Given the description of an element on the screen output the (x, y) to click on. 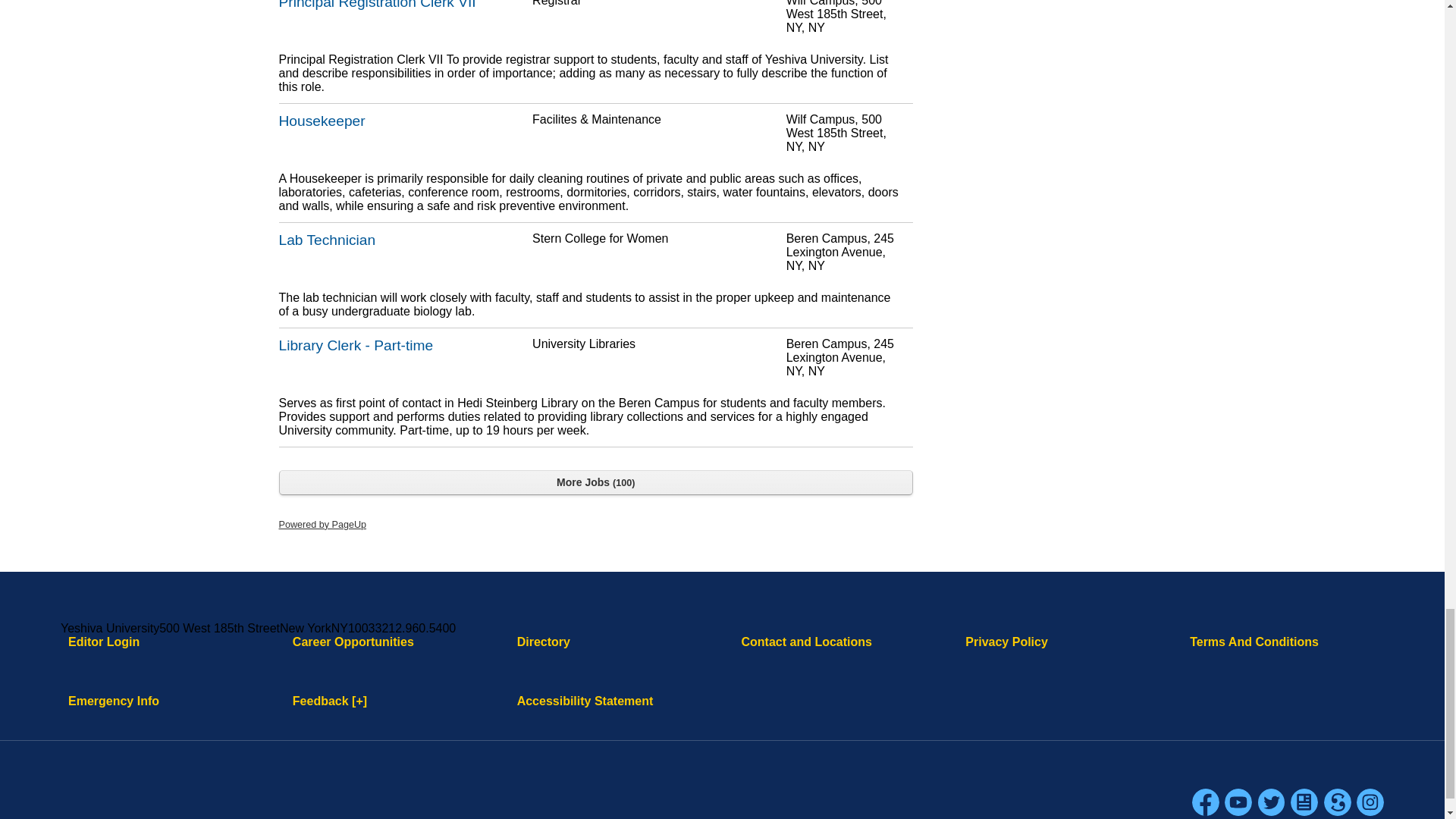
Accessibility Statement (584, 700)
More Jobs (595, 482)
